Given the description of an element on the screen output the (x, y) to click on. 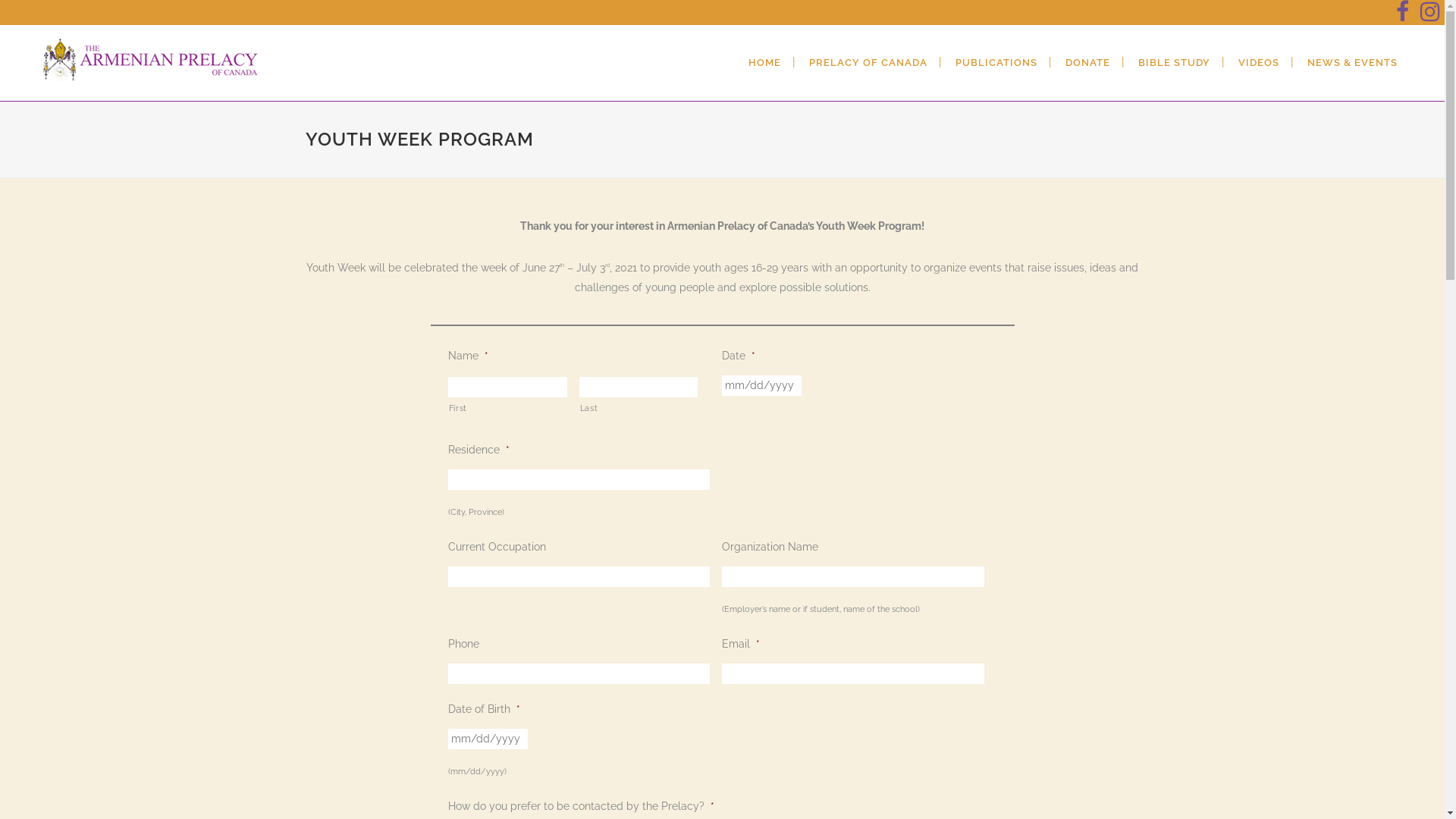
123ehost.com Element type: text (826, 798)
Bookstore Element type: text (729, 635)
The Prelate Element type: text (729, 546)
HOME Element type: text (764, 62)
DONATE Element type: text (1087, 62)
Sign Up Element type: text (1010, 717)
PUBLICATIONS Element type: text (996, 62)
NEWS & EVENTS Element type: text (1352, 62)
AREC Element type: text (729, 575)
VIDEOS Element type: text (1258, 62)
BIBLE STUDY Element type: text (1174, 62)
The Catholicosate Cilicia Element type: text (729, 694)
Lousavorich Monthly Element type: text (729, 605)
PRELACY OF CANADA Element type: text (868, 62)
The Armenian Church Element type: text (729, 664)
